Given the description of an element on the screen output the (x, y) to click on. 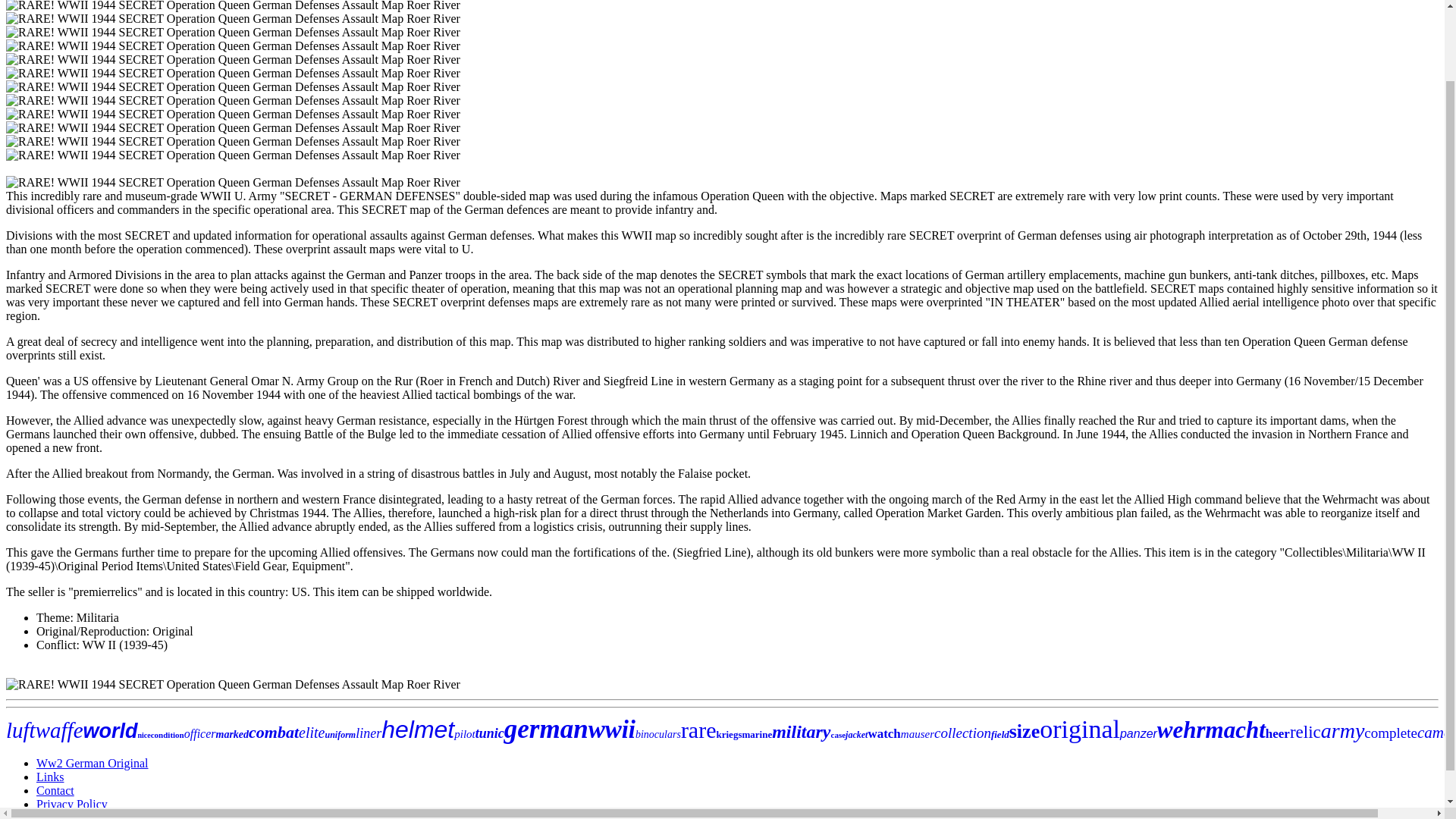
size (1024, 731)
condition (167, 734)
mauser (917, 734)
military (800, 731)
collection (962, 732)
marked (231, 734)
uniform (339, 734)
german (545, 728)
binoculars (657, 734)
